Given the description of an element on the screen output the (x, y) to click on. 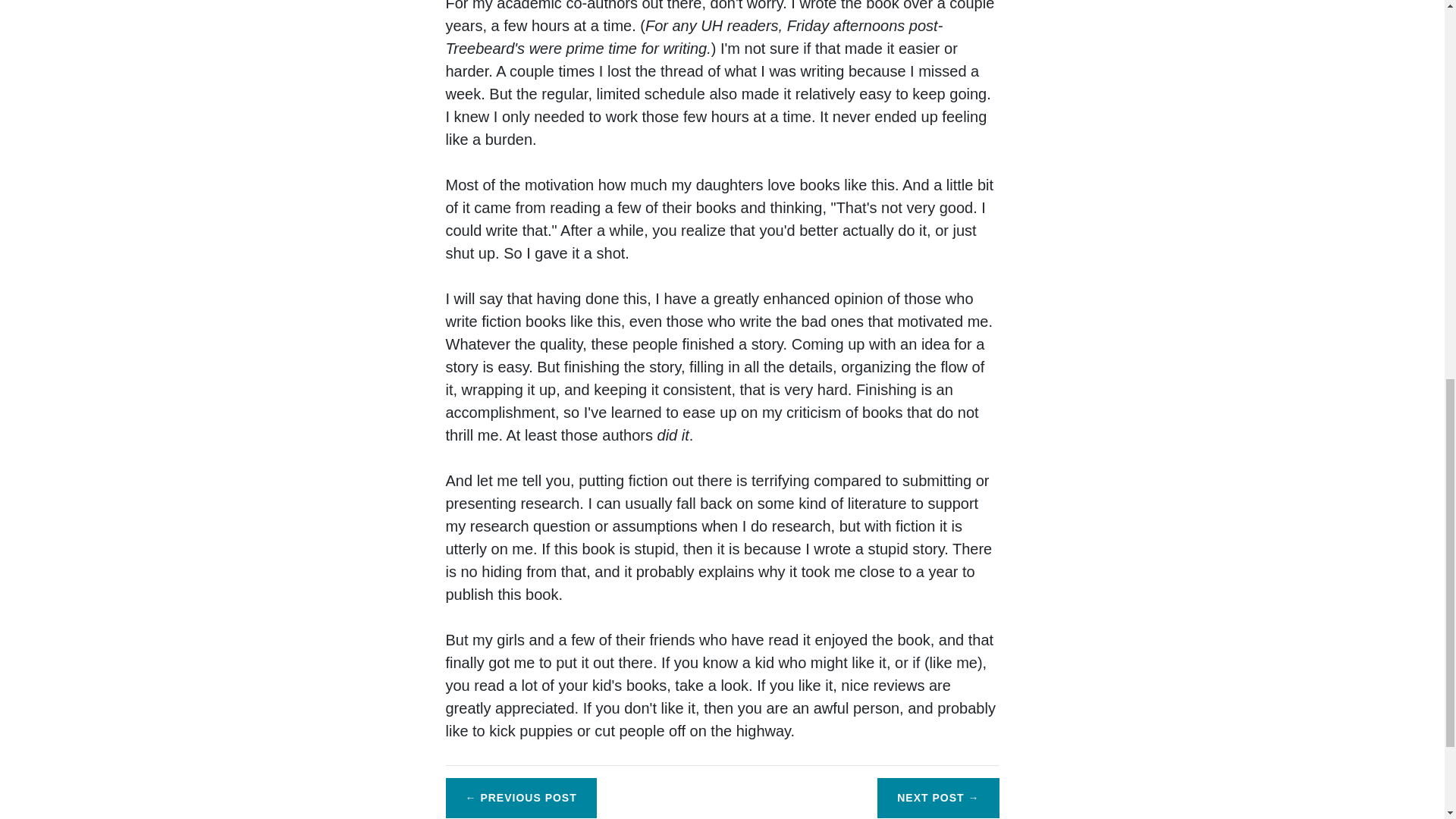
Do Agricultural Conditions Matter for Institutions? (520, 798)
Trend, Cycles, and Assumptions about Fluctuations (937, 798)
